Given the description of an element on the screen output the (x, y) to click on. 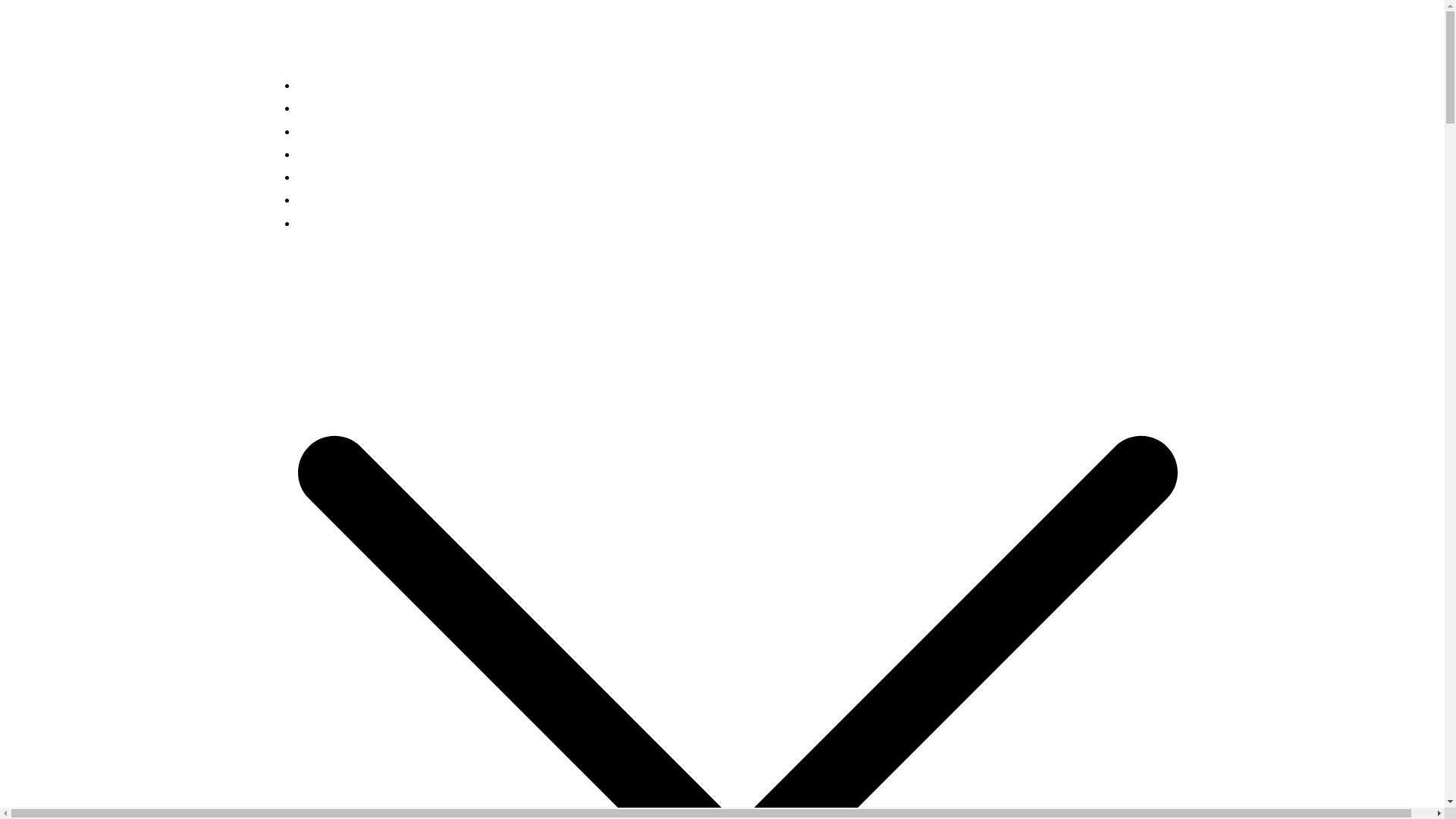
Things To Do (337, 107)
Home (315, 84)
Travelings Info (408, 48)
Travel Guide (335, 130)
Day Trips (326, 199)
Places To Visit (341, 153)
Airlines (319, 222)
Time To Visit (335, 176)
